Given the description of an element on the screen output the (x, y) to click on. 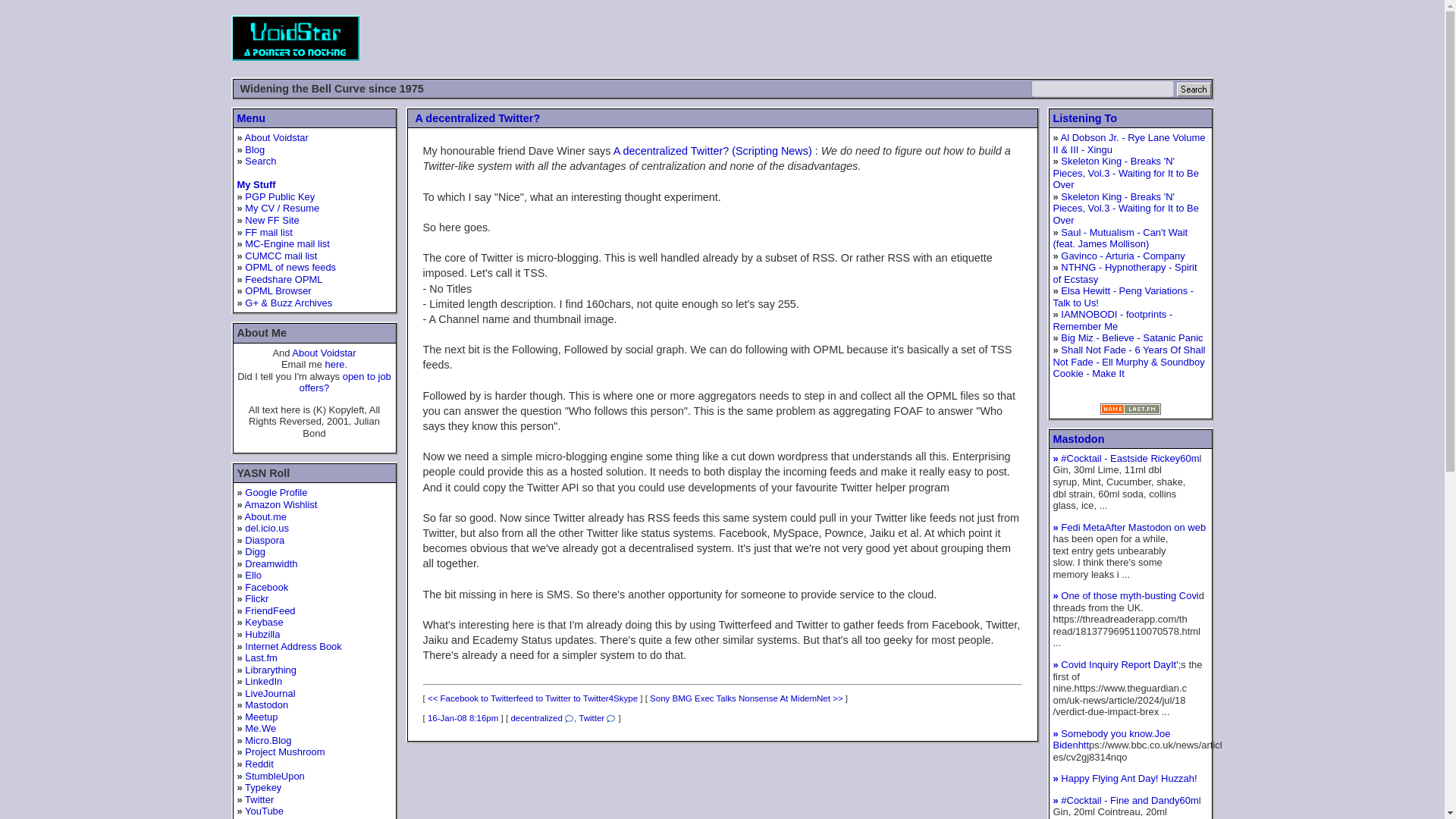
Digg (254, 551)
Previous (532, 697)
Flickr (255, 598)
Dreamwidth (270, 563)
Diaspora (263, 540)
Amazon Wishlist (280, 504)
Librarything (270, 669)
OPML of news feeds (290, 266)
Permalink for this entry (462, 717)
LiveJournal (269, 693)
CUMCC mail list (280, 255)
About Voidstar (276, 137)
Feedshare OPML (282, 279)
MC-Engine mail list (287, 243)
About.me (265, 516)
